Given the description of an element on the screen output the (x, y) to click on. 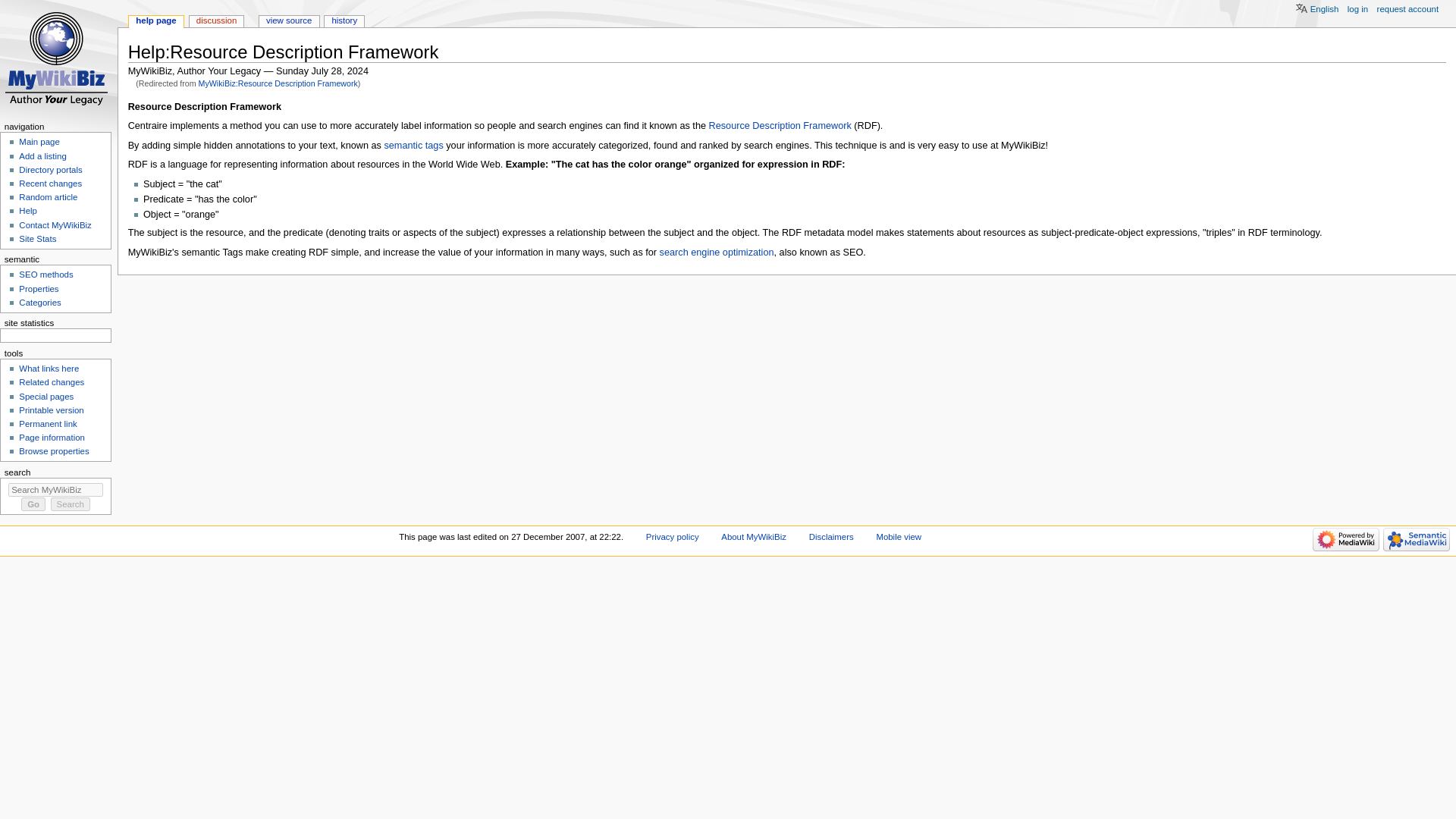
MyWikiBiz:Resource Description Framework (278, 82)
Help (27, 210)
Properties (38, 288)
Go (33, 504)
Recent changes (49, 183)
Add a listing (41, 155)
semantic tags (413, 145)
Resource Description Framework (780, 125)
history (344, 21)
What links here (48, 368)
English (1310, 8)
help page (156, 21)
Page information (51, 437)
Search (70, 504)
Browse properties (53, 450)
